Given the description of an element on the screen output the (x, y) to click on. 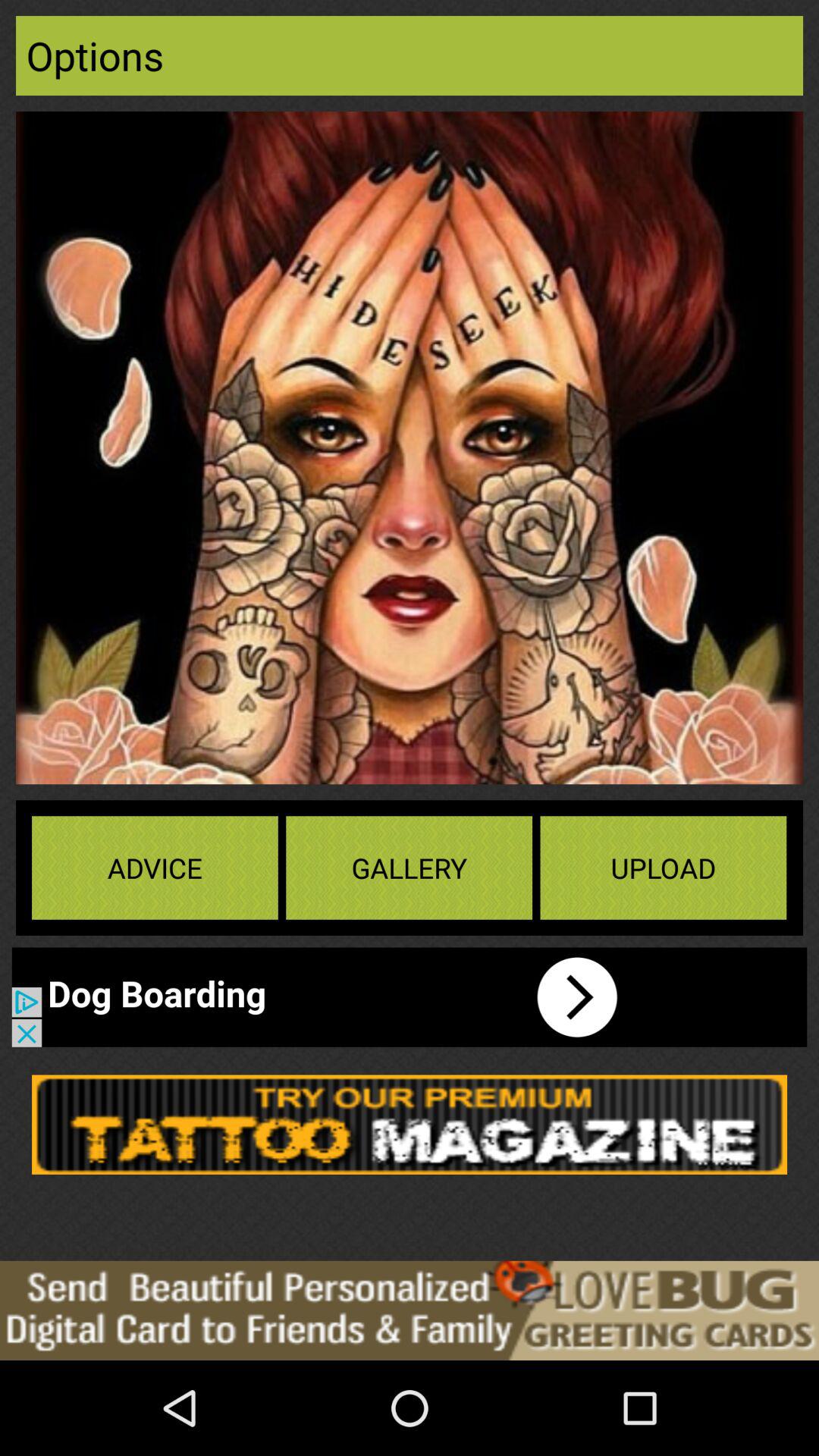
select product (409, 1124)
